Given the description of an element on the screen output the (x, y) to click on. 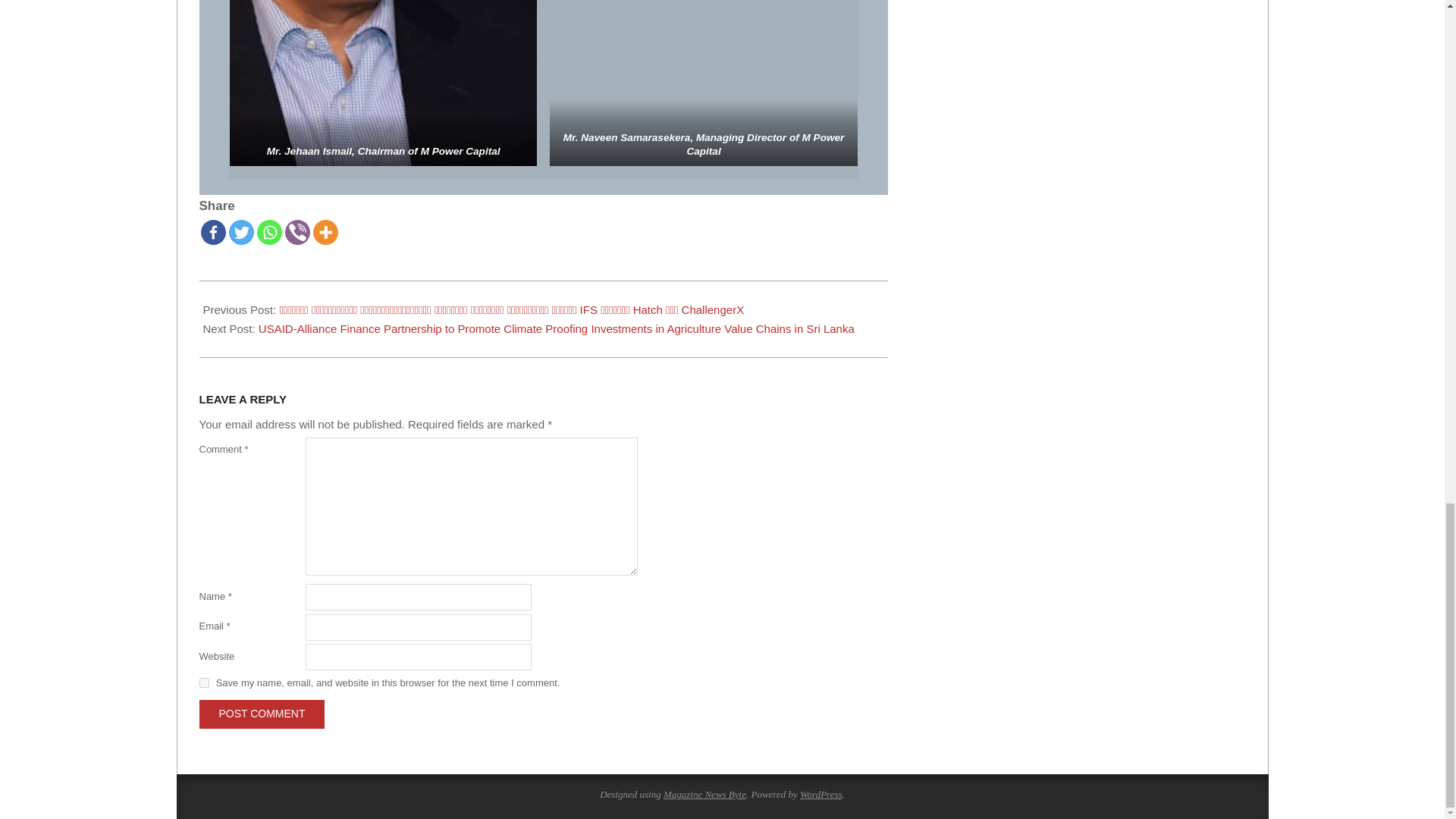
Post Comment (261, 714)
yes (203, 682)
Magazine News Byte WordPress Theme (704, 794)
Whatsapp (268, 232)
Viber (297, 232)
More (325, 232)
Facebook (212, 232)
Magazine News Byte (704, 794)
Twitter (240, 232)
